Given the description of an element on the screen output the (x, y) to click on. 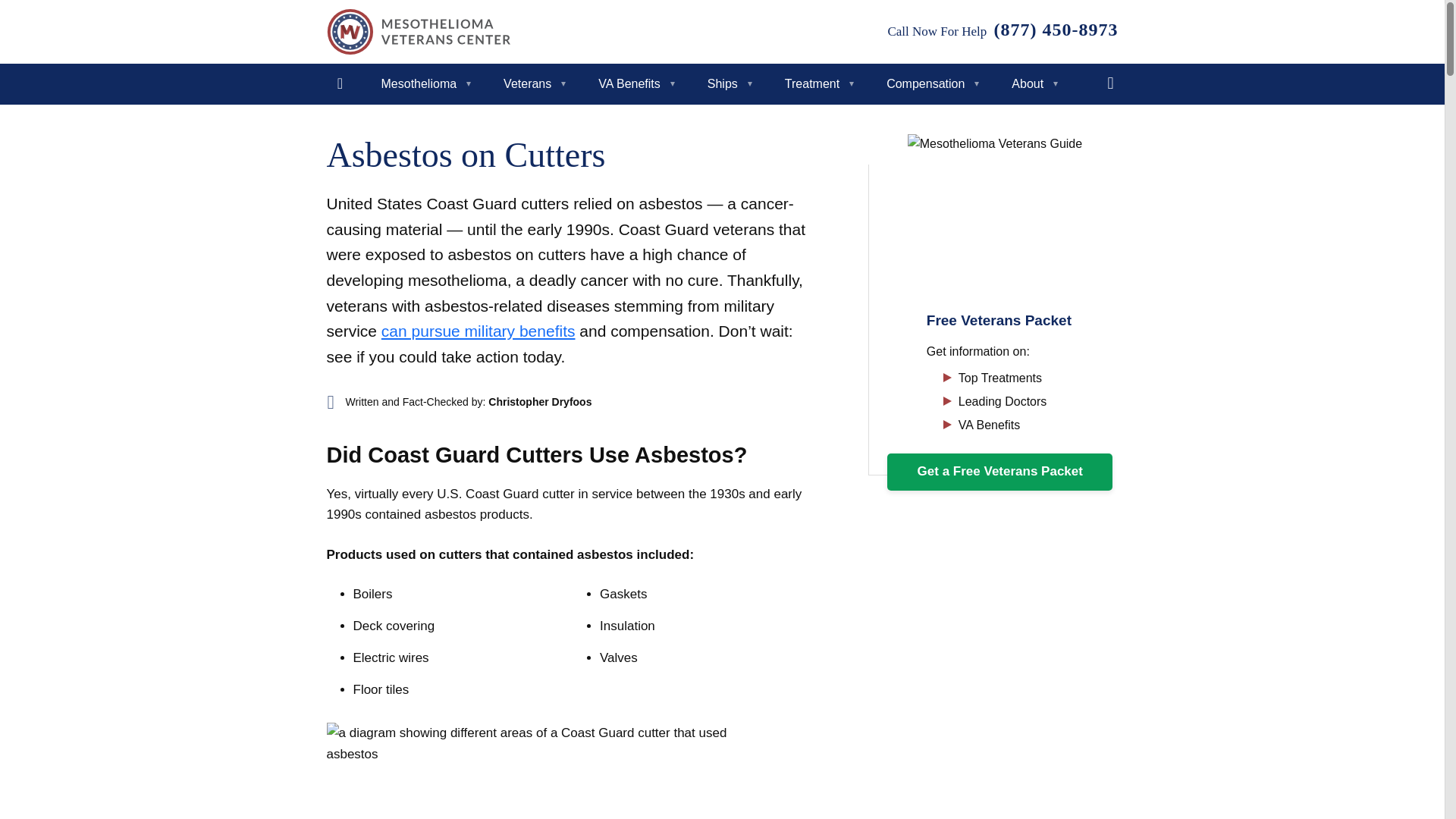
Mesothelioma (422, 83)
Mesothelioma (422, 83)
Home (339, 83)
Mesothelioma Veterans Center (418, 31)
Mesothelioma Veterans Center (418, 31)
Home (339, 83)
Veterans (530, 83)
